Given the description of an element on the screen output the (x, y) to click on. 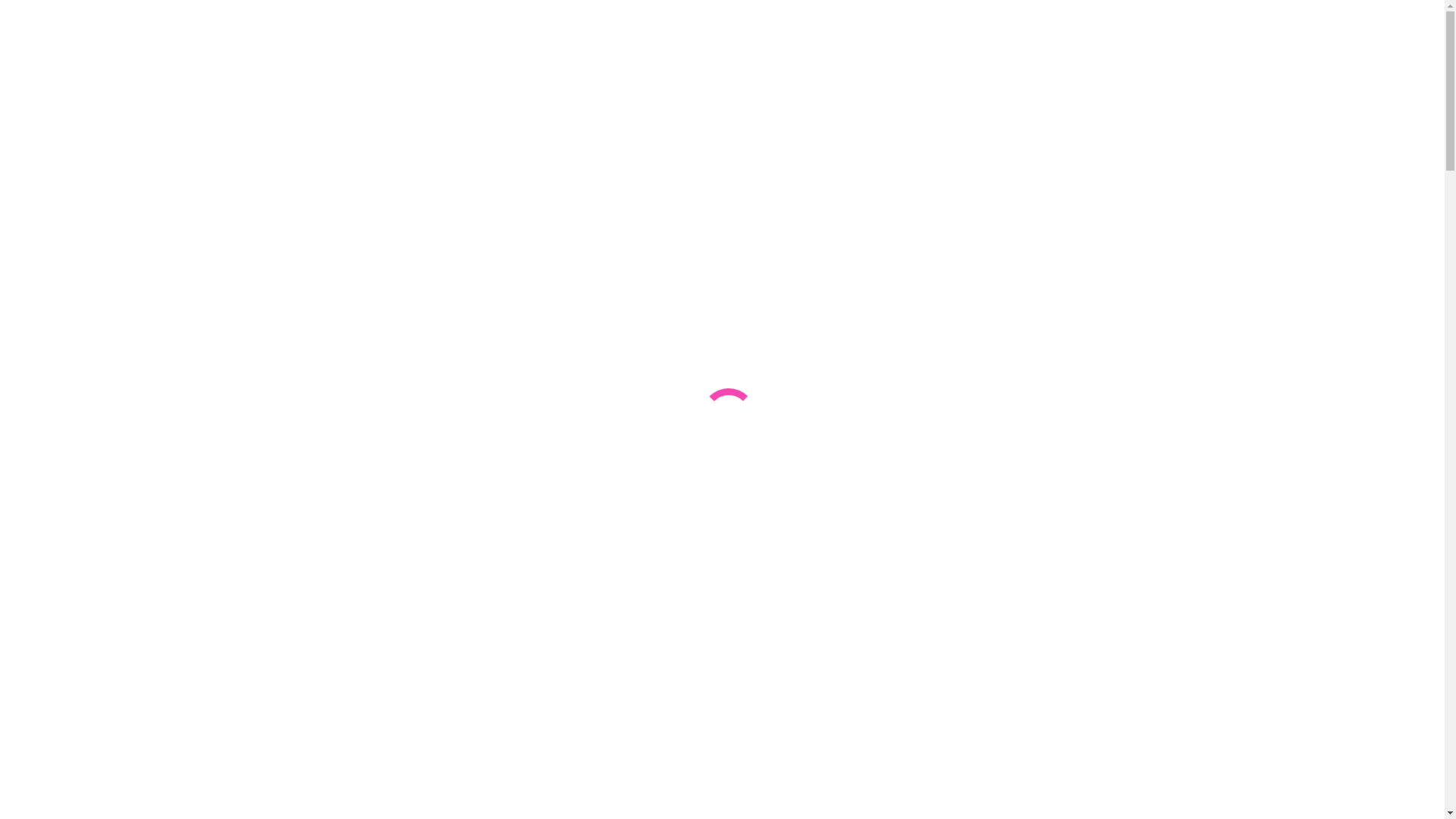
Home Element type: text (50, 134)
Facebook page opens in new window Element type: text (12, 201)
Instagram page opens in new window Element type: text (24, 201)
Skip to content Element type: text (5, 5)
Contact Us Element type: text (63, 268)
Gallery Element type: text (54, 241)
Contact Us Element type: text (63, 175)
Party Packages Element type: text (72, 161)
Home Element type: text (50, 227)
Gallery Element type: text (54, 147)
Party Packages Element type: text (72, 254)
